Given the description of an element on the screen output the (x, y) to click on. 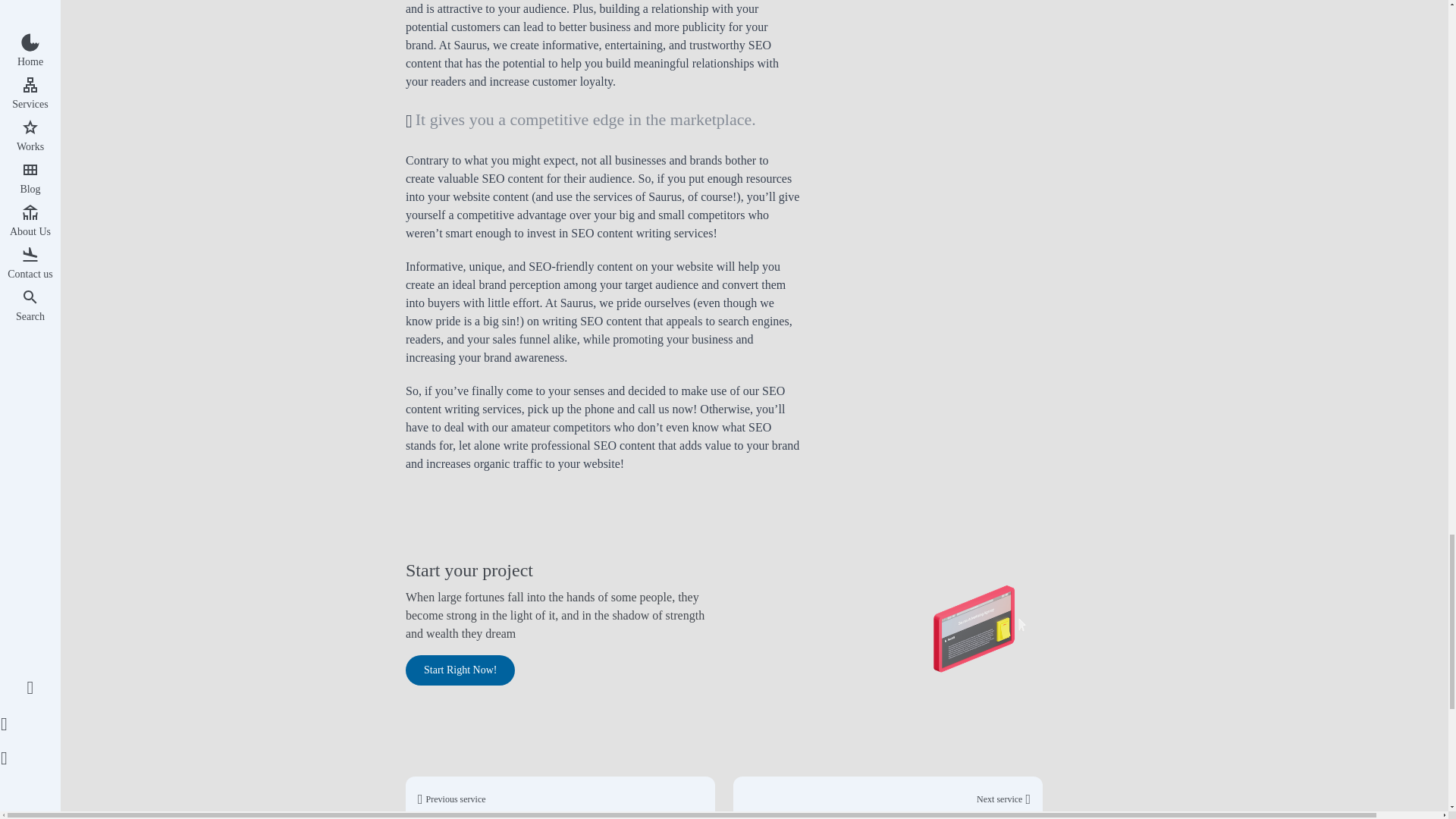
Start Right Now! (460, 670)
